Given the description of an element on the screen output the (x, y) to click on. 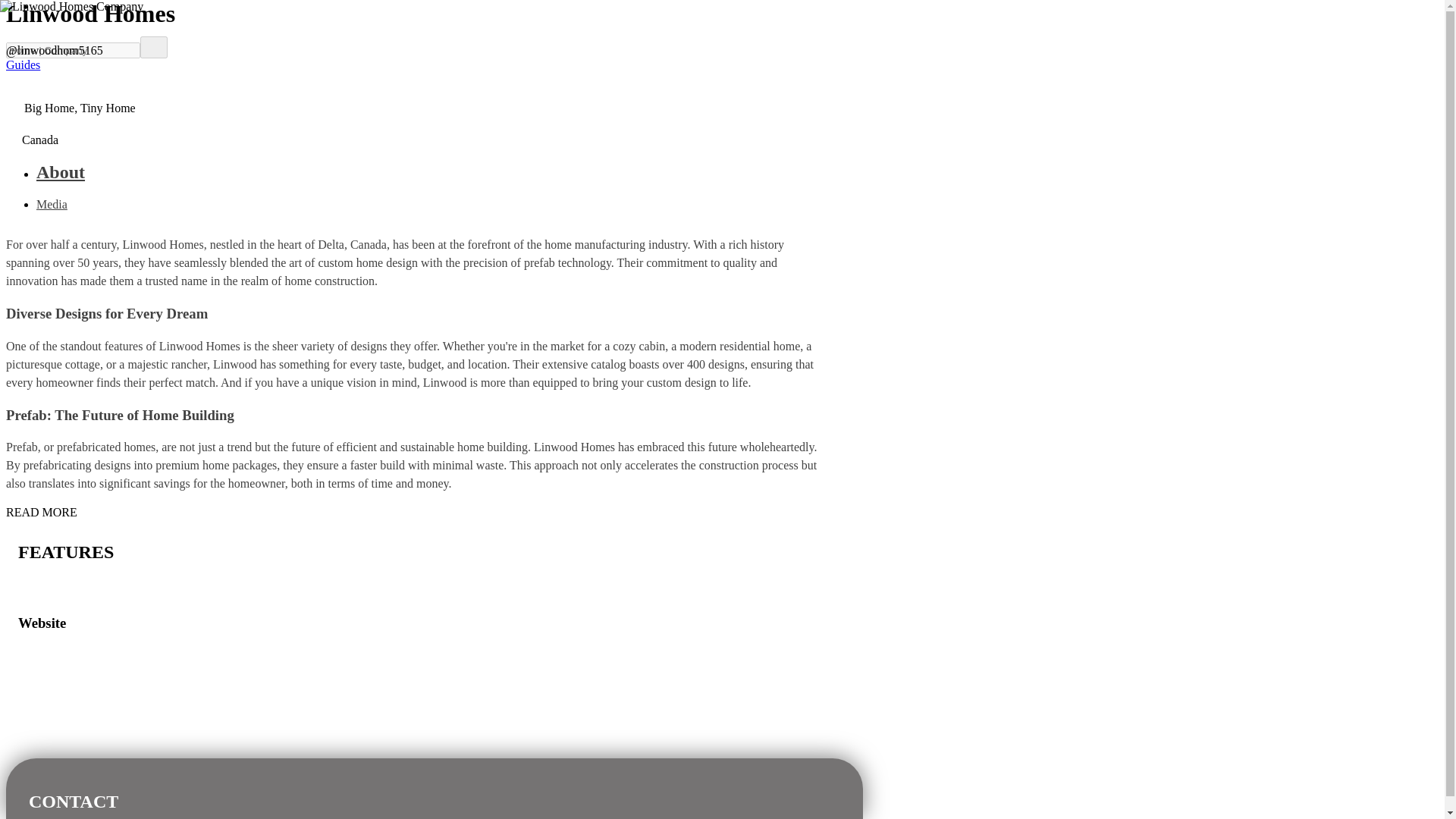
Media (51, 204)
About (426, 172)
